Given the description of an element on the screen output the (x, y) to click on. 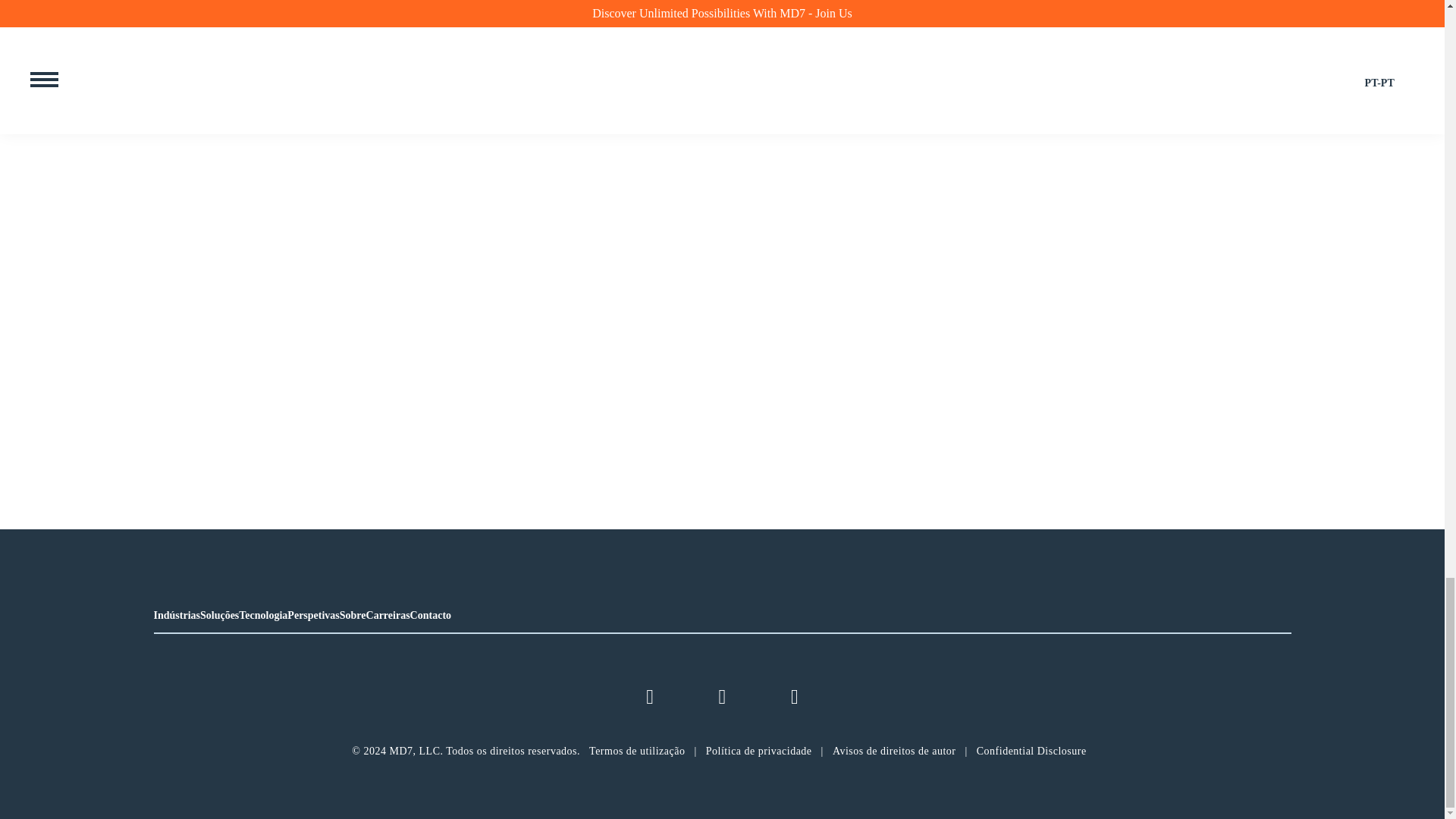
Tecnologia (262, 614)
Carreiras (388, 614)
Sobre (352, 614)
Contacto (430, 614)
Avisos de direitos de autor (894, 750)
Confidential Disclosure (1031, 750)
Perspetivas (312, 614)
